Given the description of an element on the screen output the (x, y) to click on. 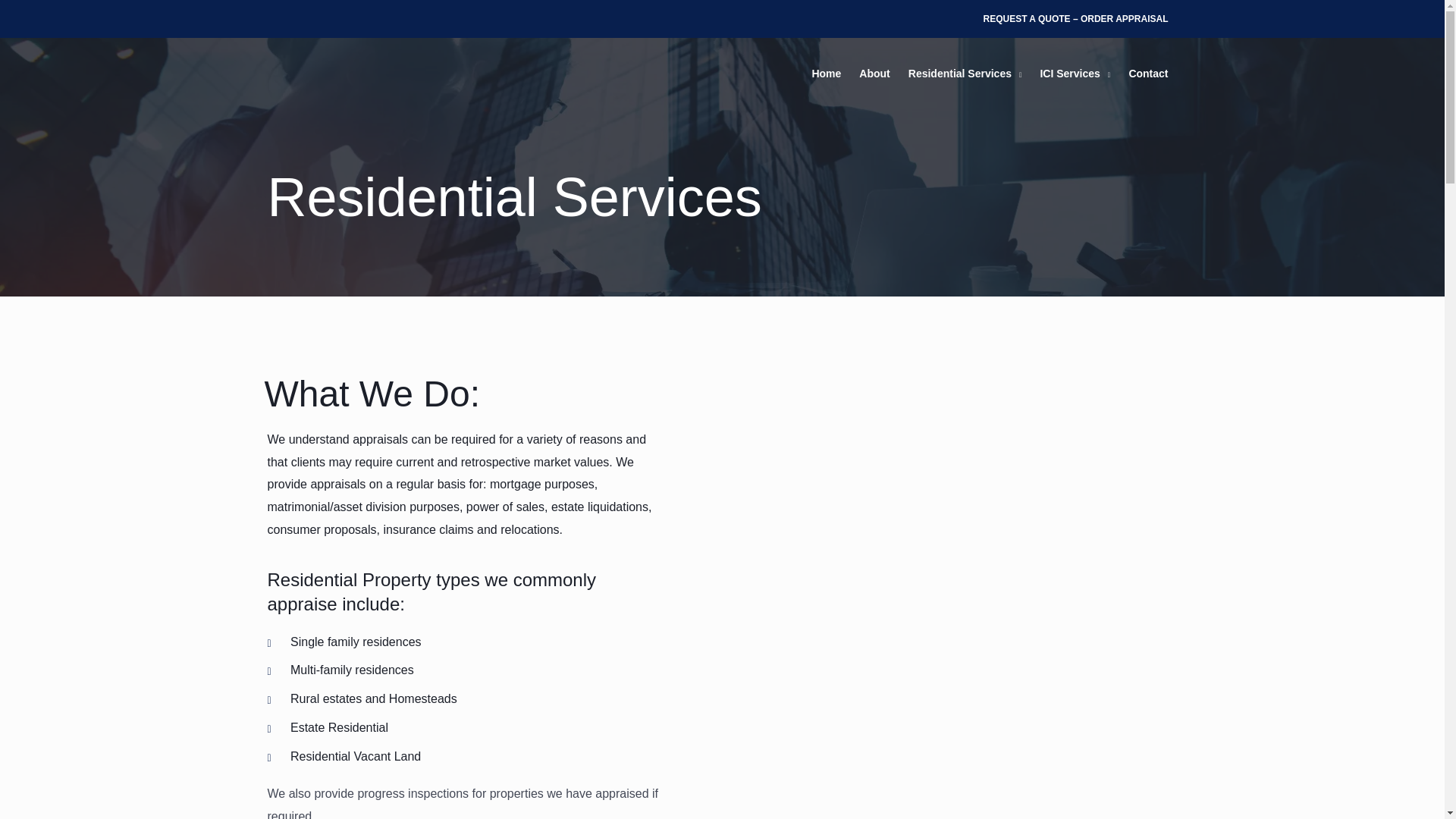
Contact (1147, 72)
ICI Services (1074, 72)
Residential Services (964, 72)
Home (826, 72)
About (874, 72)
